Given the description of an element on the screen output the (x, y) to click on. 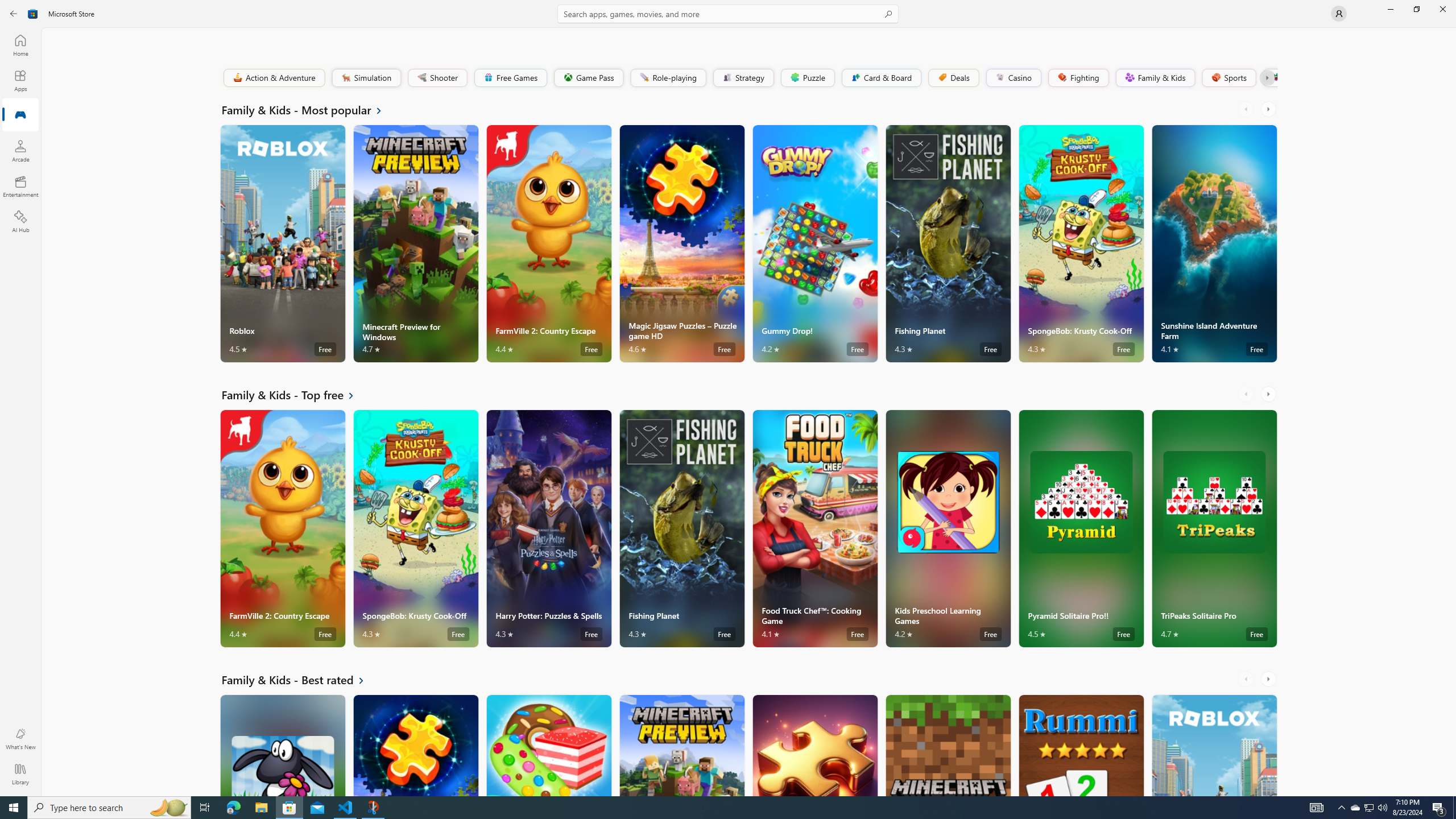
See all  Family & Kids - Top free (294, 394)
Strategy (742, 77)
See all  Family & Kids - Best rated (299, 679)
Puzzle (807, 77)
Role-playing (668, 77)
Back (13, 13)
AutomationID: NavigationControl (728, 398)
